Given the description of an element on the screen output the (x, y) to click on. 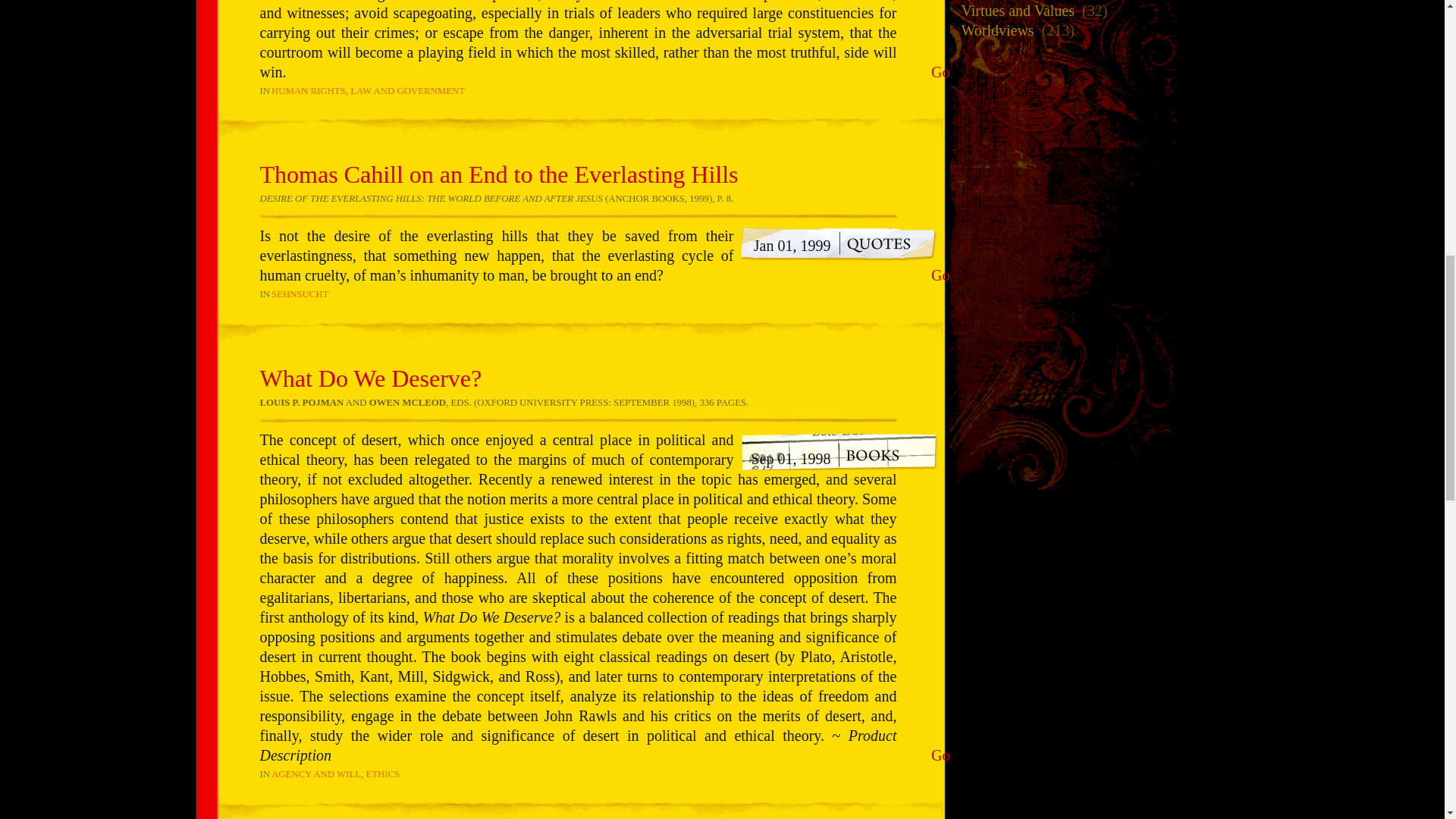
Go (940, 754)
Go (940, 275)
What Do We Deserve? (370, 378)
ETHICS (381, 774)
HUMAN RIGHTS (308, 90)
AGENCY AND WILL (315, 774)
Thomas Cahill on an End to the Everlasting Hills (498, 174)
Go (940, 71)
SEHNSUCHT (299, 294)
LAW AND GOVERNMENT (407, 90)
